Given the description of an element on the screen output the (x, y) to click on. 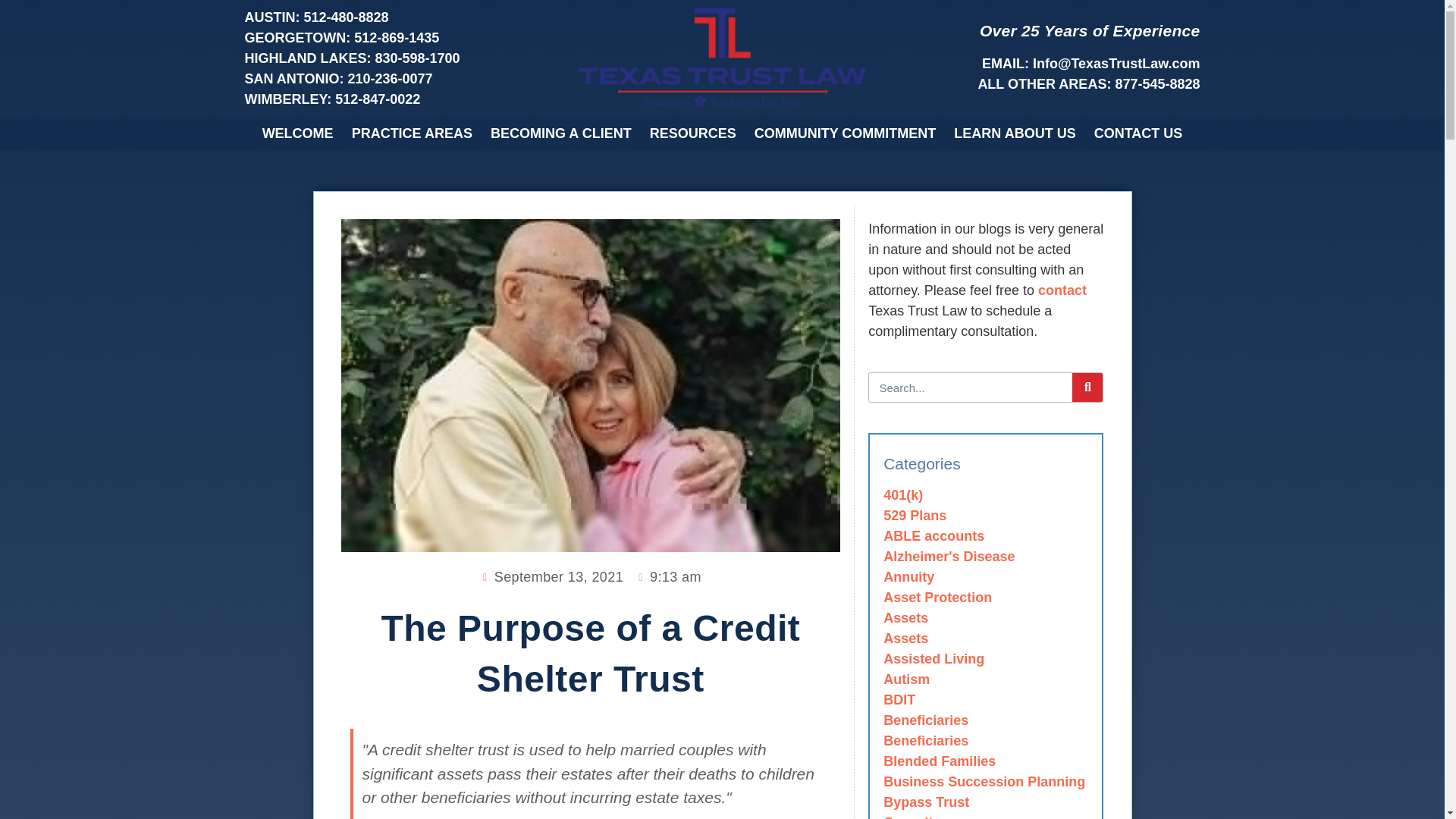
HIGHLAND LAKES: 830-598-1700 (479, 58)
WIMBERLEY: 512-847-0022 (479, 99)
SAN ANTONIO: 210-236-0077 (479, 78)
RESOURCES (692, 133)
BECOMING A CLIENT (560, 133)
WELCOME (297, 133)
PRACTICE AREAS (411, 133)
AUSTIN: 512-480-8828 (479, 17)
ALL OTHER AREAS: 877-545-8828 (964, 84)
GEORGETOWN: 512-869-1435 (479, 37)
